Given the description of an element on the screen output the (x, y) to click on. 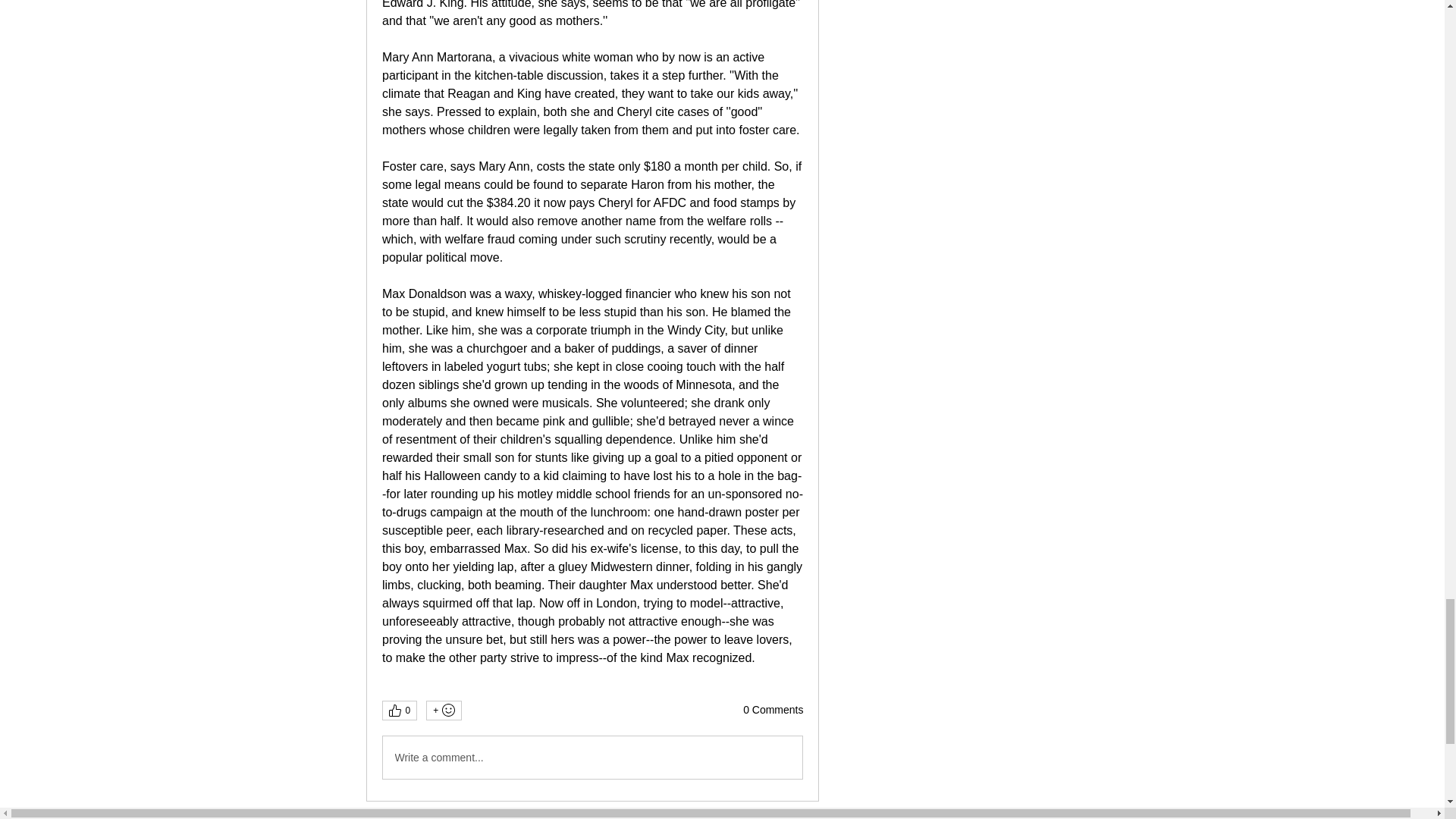
Write a comment... (591, 757)
0 Comments (772, 710)
